Given the description of an element on the screen output the (x, y) to click on. 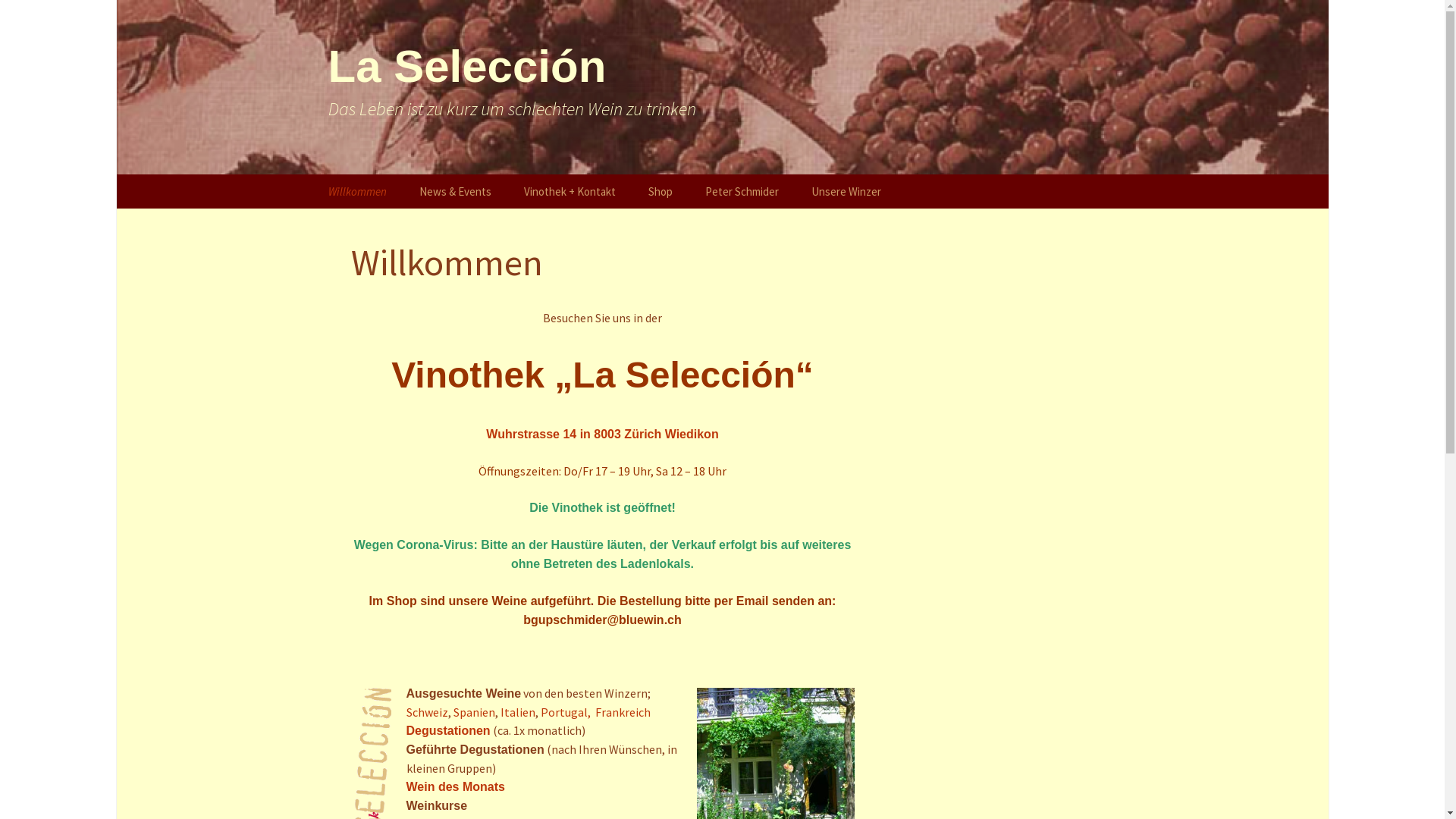
Willkommen Element type: text (356, 191)
Zum Inhalt springen Element type: text (312, 174)
Suche Element type: text (18, 16)
Peter Schmider Element type: text (741, 191)
Italien Element type: text (517, 711)
Unsere Winzer Element type: text (846, 191)
Shop Element type: text (659, 191)
Portugal,  Element type: text (565, 711)
News & Events Element type: text (454, 191)
Vinothek + Kontakt Element type: text (569, 191)
Frankreich Element type: text (621, 711)
Degustationen Element type: text (448, 729)
Spanien Element type: text (474, 711)
Schweiz Element type: text (427, 711)
Wein des Monats Element type: text (455, 785)
